Given the description of an element on the screen output the (x, y) to click on. 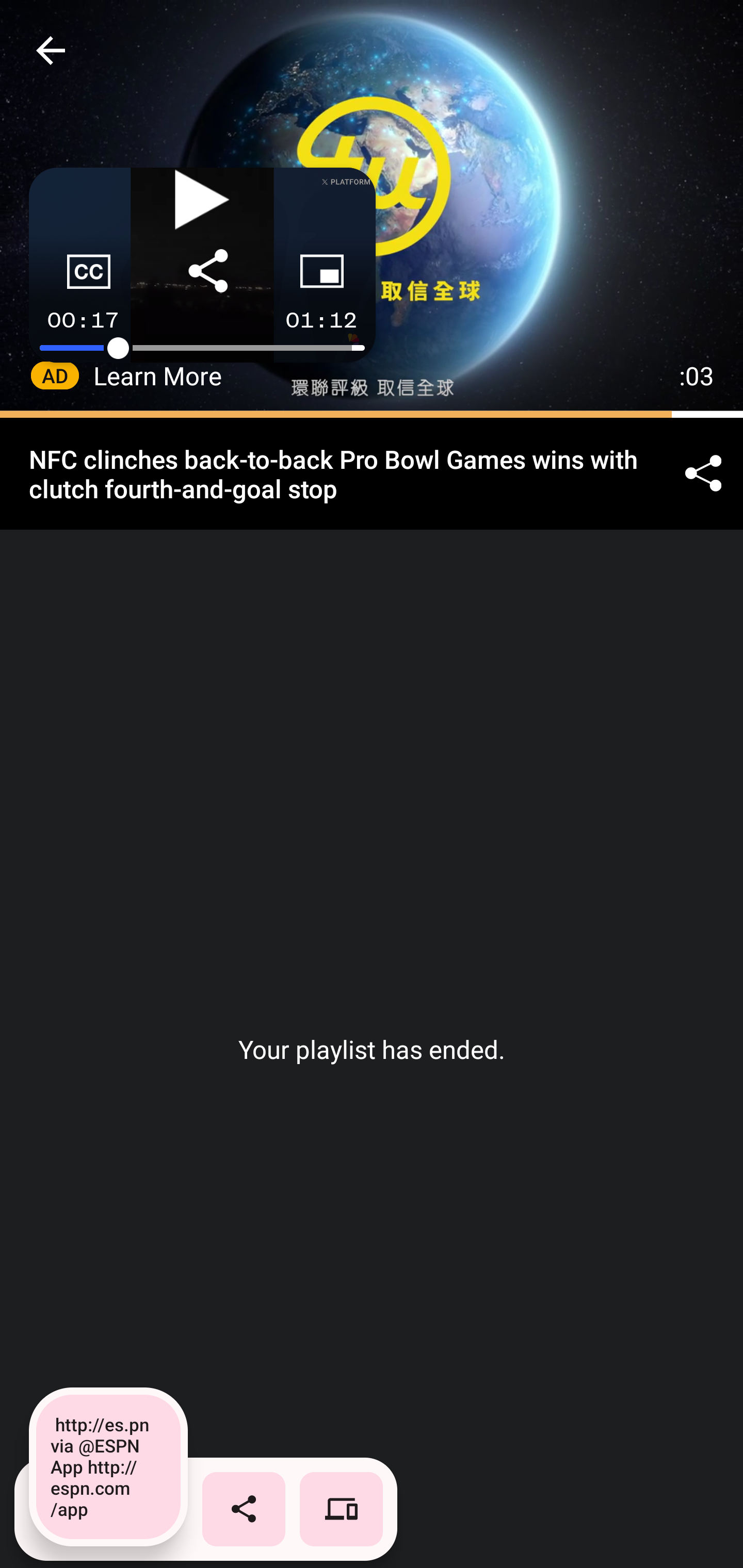
Navigate up (50, 50)
Learn More (157, 375)
Share © (703, 474)
